Given the description of an element on the screen output the (x, y) to click on. 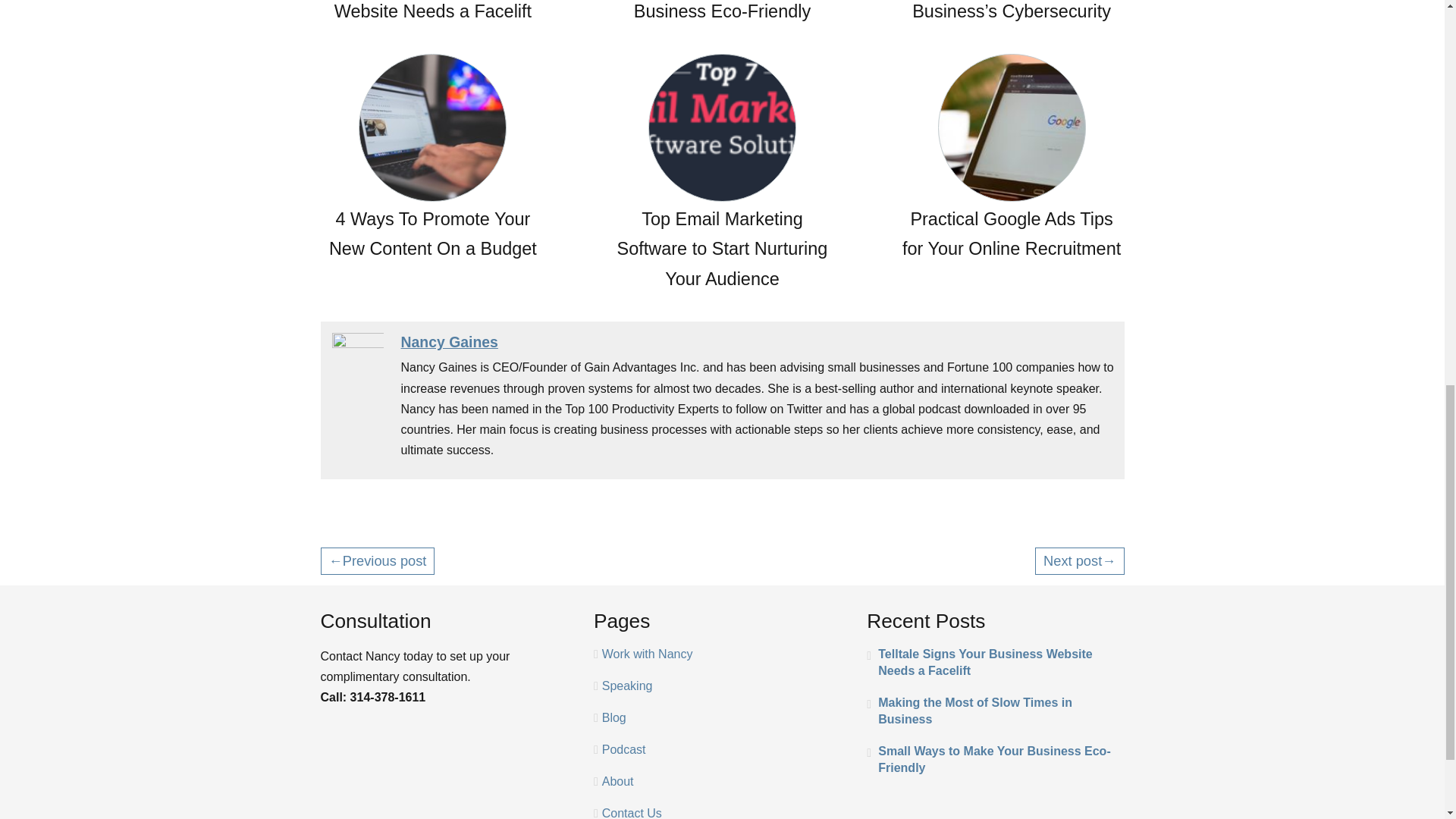
Telltale Signs Your Business Website Needs a Facelift (432, 13)
Contact Us (632, 812)
Speaking (627, 685)
Small Ways to Make Your Business Eco-Friendly (722, 13)
Telltale Signs Your Business Website Needs a Facelift (995, 662)
Podcast (624, 748)
Nancy Gaines (448, 341)
Blog (614, 717)
About (617, 780)
Making the Most of Slow Times in Business (995, 711)
Small Ways to Make Your Business Eco-Friendly (995, 759)
Practical Google Ads Tips for Your Online Recruitment (1011, 159)
4 Ways To Promote Your New Content On a Budget (432, 159)
Work with Nancy (647, 653)
